Given the description of an element on the screen output the (x, y) to click on. 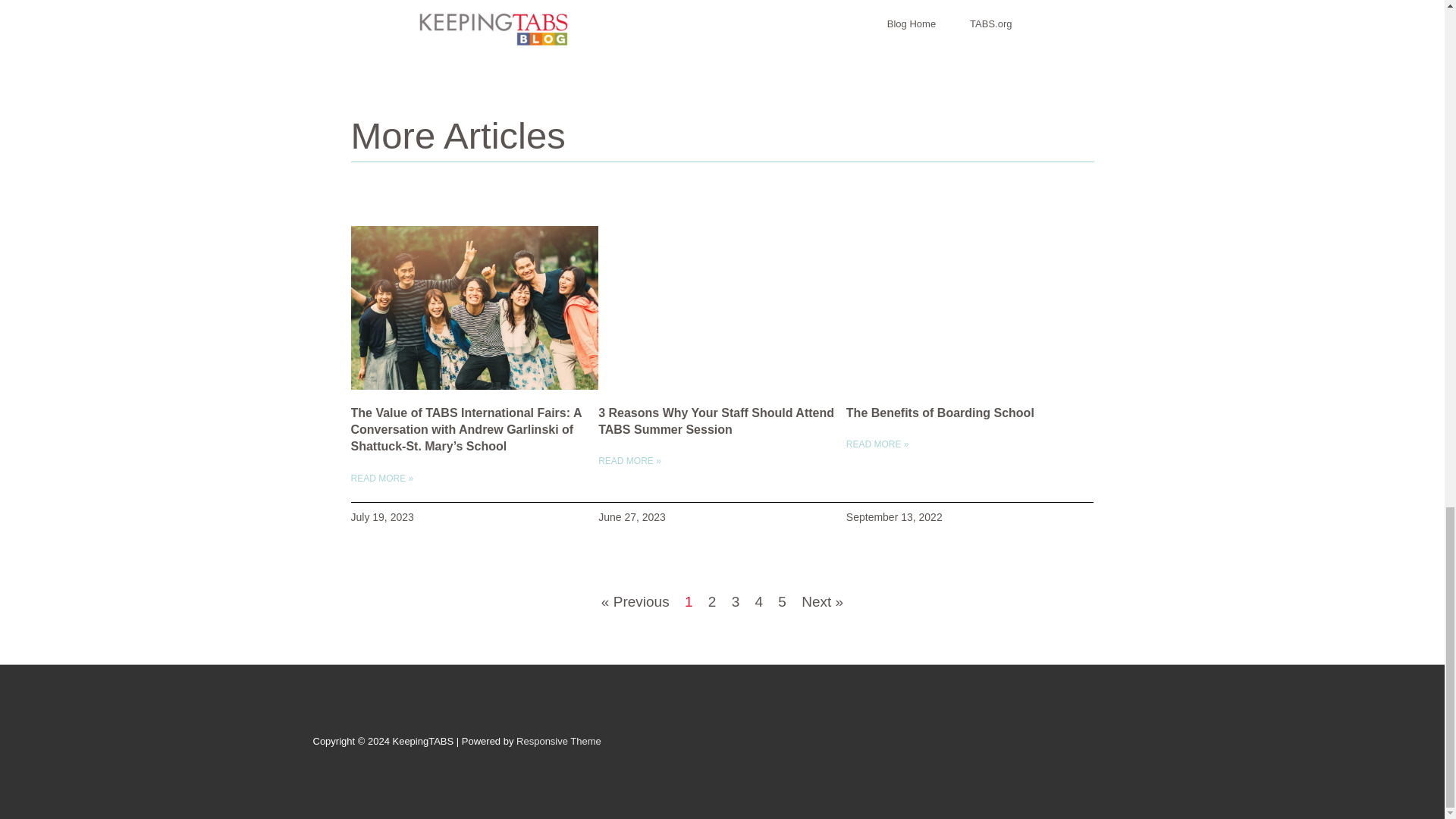
Responsive Theme (558, 740)
3 Reasons Why Your Staff Should Attend TABS Summer Session (716, 420)
The Benefits of Boarding School (939, 412)
